Given the description of an element on the screen output the (x, y) to click on. 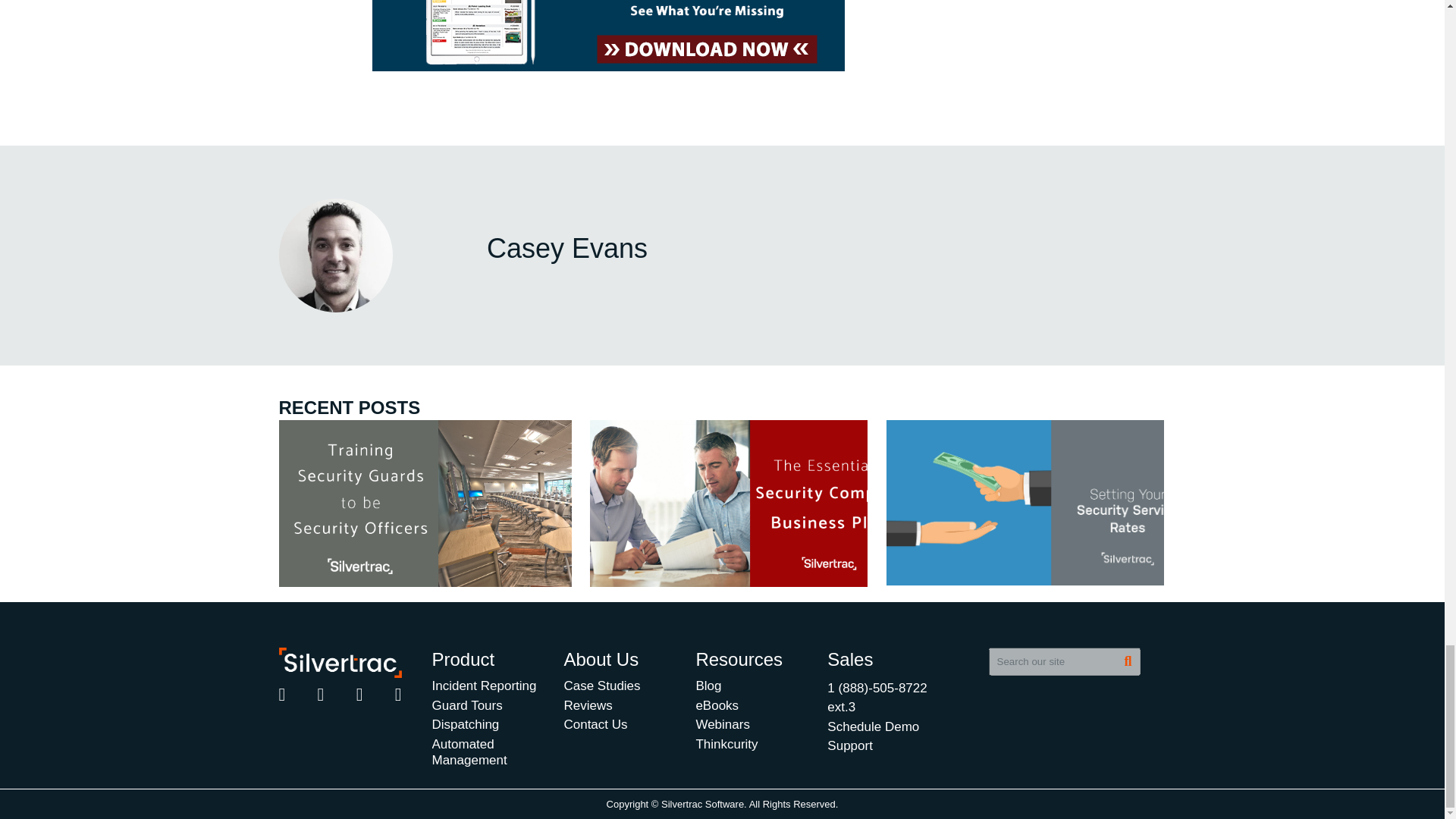
Casey Evans (336, 255)
